Given the description of an element on the screen output the (x, y) to click on. 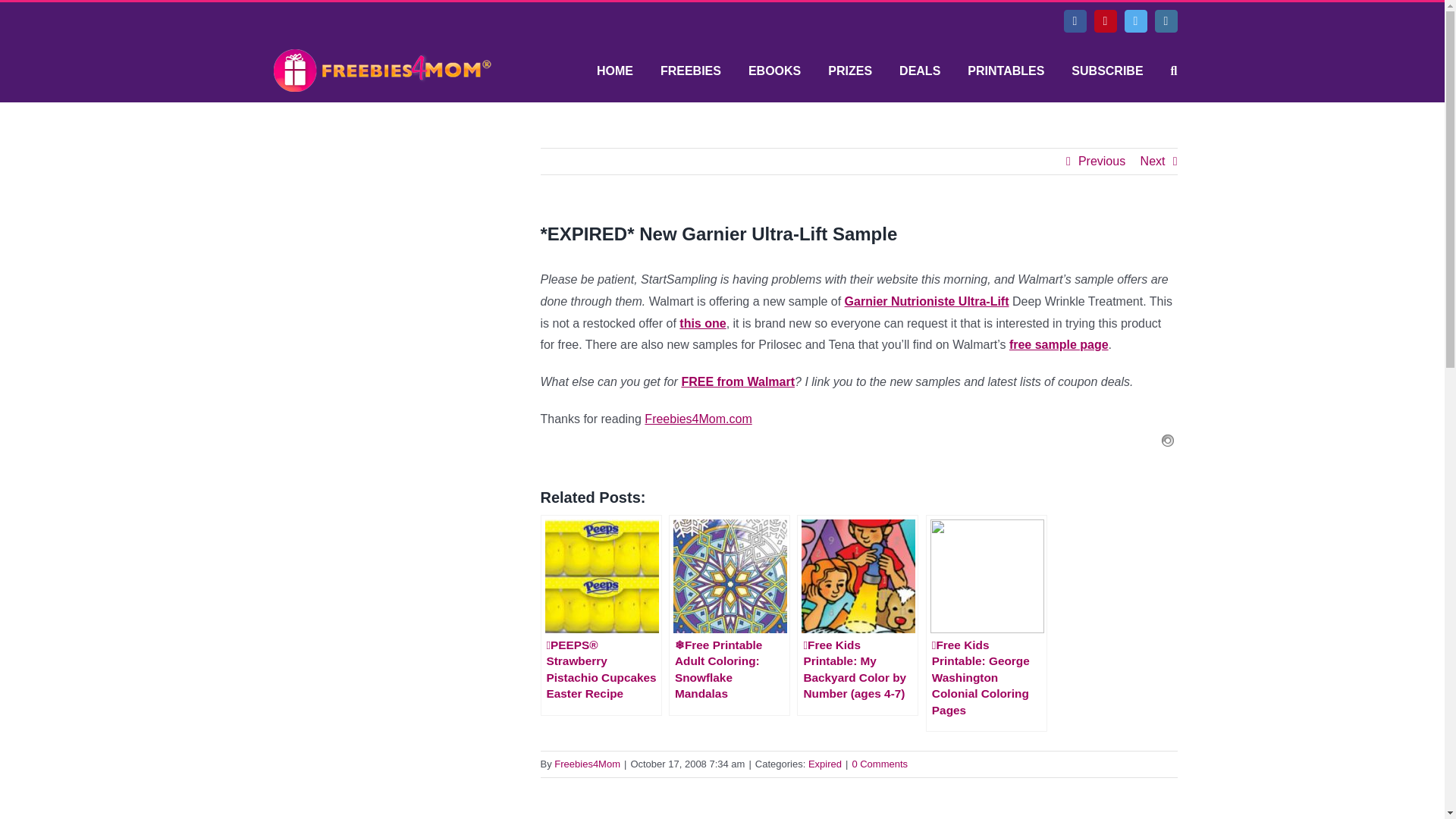
Instagram (1165, 20)
Posts by Freebies4Mom (587, 763)
FREEBIES (690, 70)
Facebook (1074, 20)
Instagram (1165, 20)
Twitter (1135, 20)
Facebook (1074, 20)
Pinterest (1104, 20)
Twitter (1135, 20)
PRINTABLES (1005, 70)
